Given the description of an element on the screen output the (x, y) to click on. 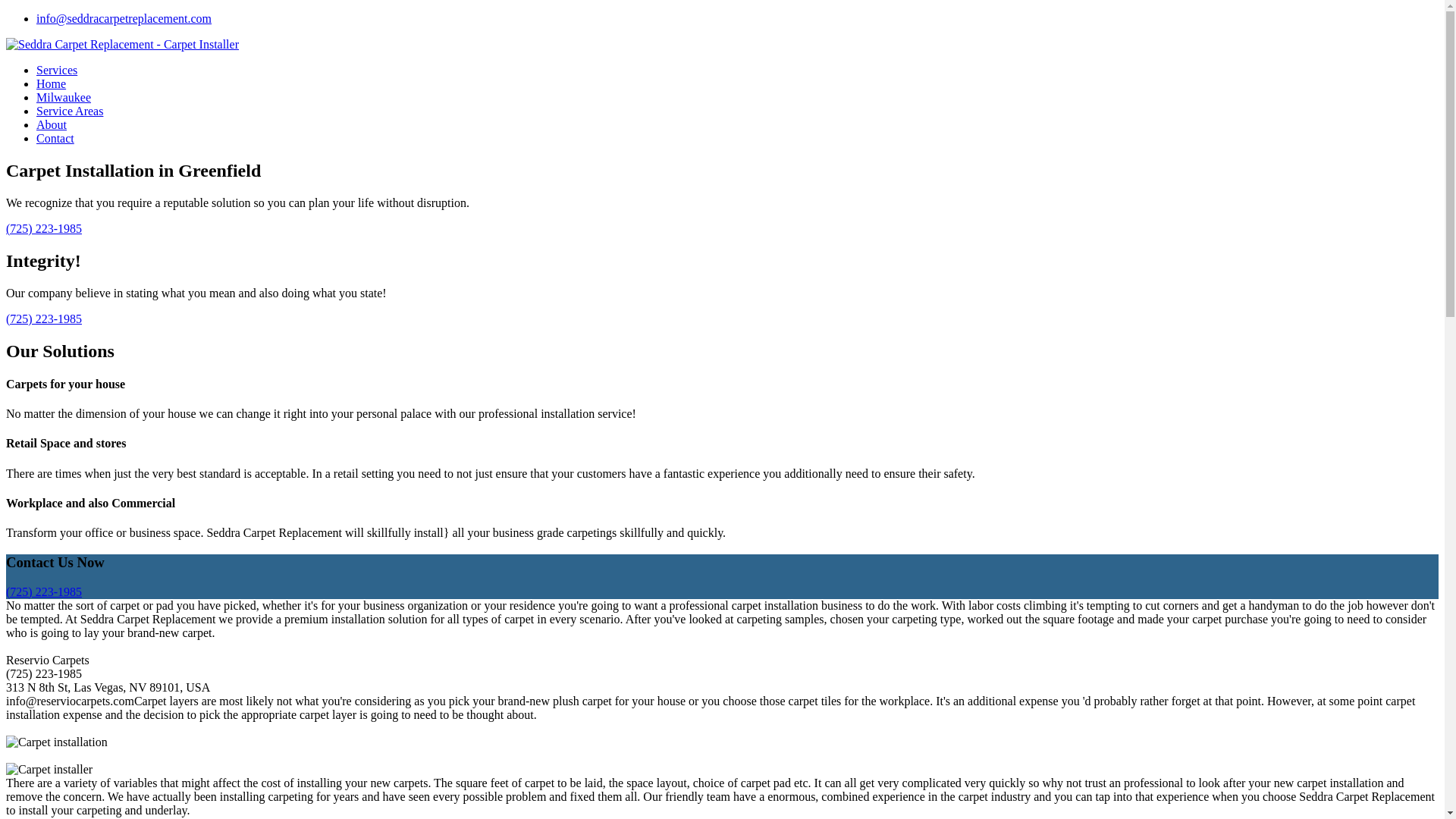
Contact (55, 137)
About (51, 124)
Home (50, 83)
Service Areas (69, 110)
Milwaukee (63, 97)
Services (56, 69)
